Given the description of an element on the screen output the (x, y) to click on. 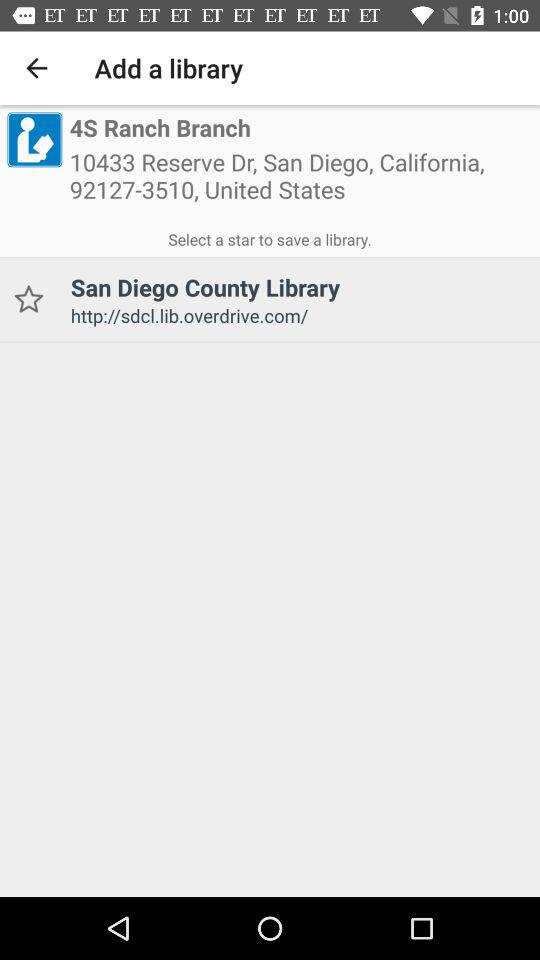
select icon below the 4s ranch branch item (301, 182)
